Given the description of an element on the screen output the (x, y) to click on. 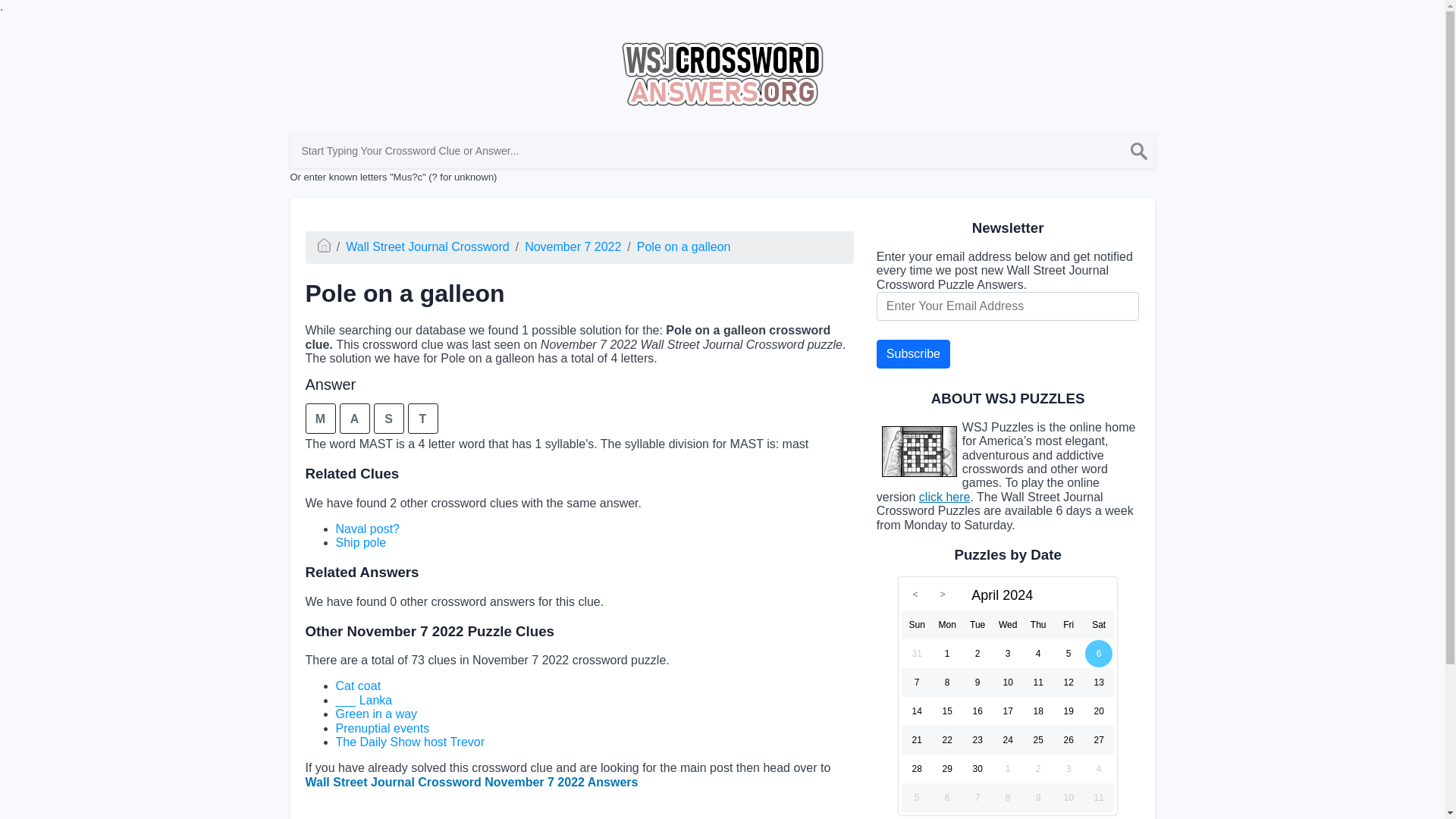
Ship pole (359, 542)
Naval post? (366, 528)
Prenuptial events (381, 727)
Pole on a galleon (683, 246)
Subscribe (913, 353)
Green in a way (375, 713)
Subscribe (913, 353)
Wall Street Journal Crossword November 7 2022 Answers (470, 781)
November 7 2022 (572, 246)
The Daily Show host Trevor (409, 741)
